Given the description of an element on the screen output the (x, y) to click on. 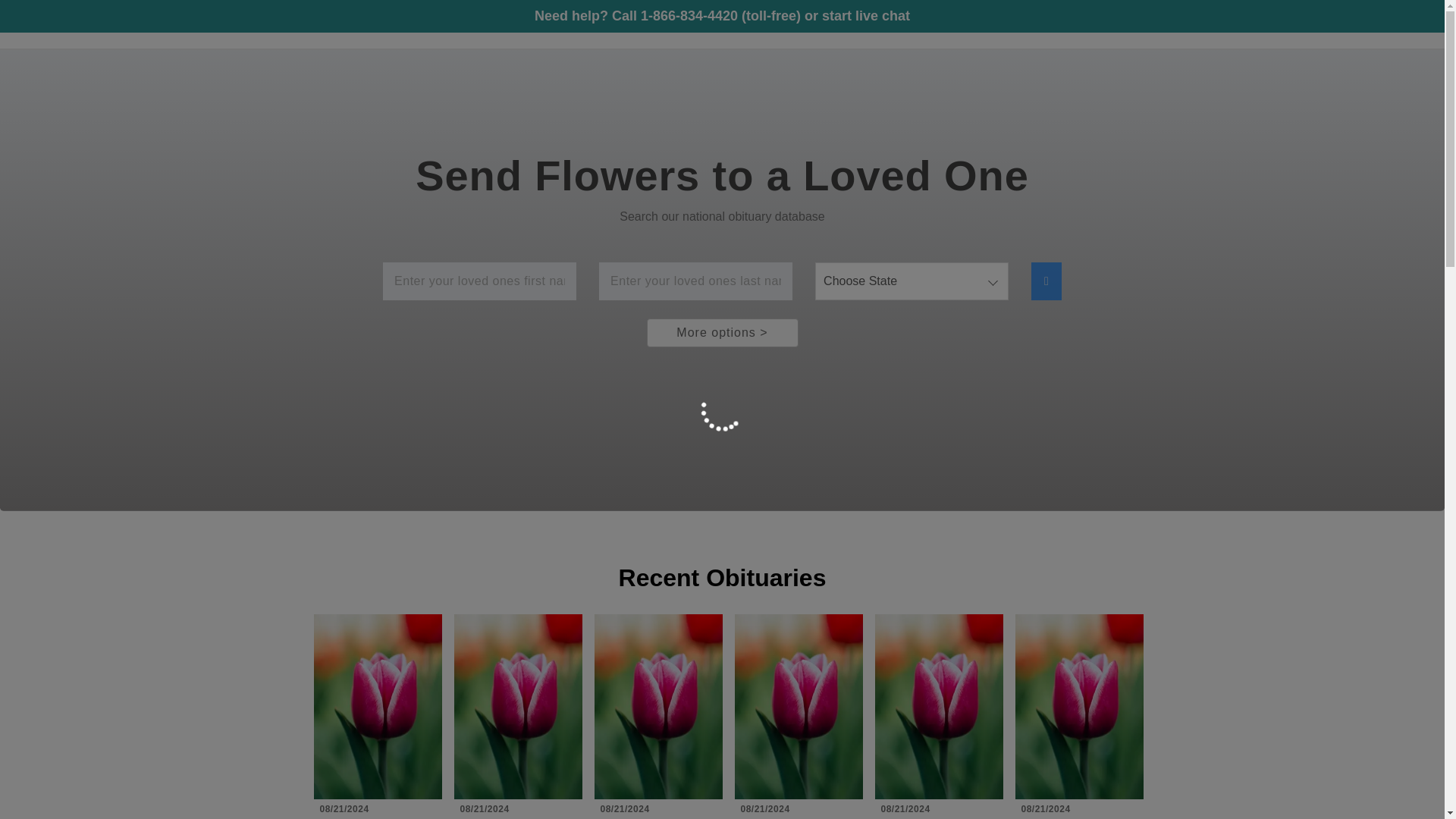
Contact (1380, 23)
Link to FAQ (1302, 23)
First Name (479, 281)
FAQ (1302, 23)
Last Name (695, 281)
start live chat (866, 15)
Choose State (912, 281)
Link to funeral homes (1380, 23)
Link to advanced obituary search (1229, 23)
About (1229, 23)
